Given the description of an element on the screen output the (x, y) to click on. 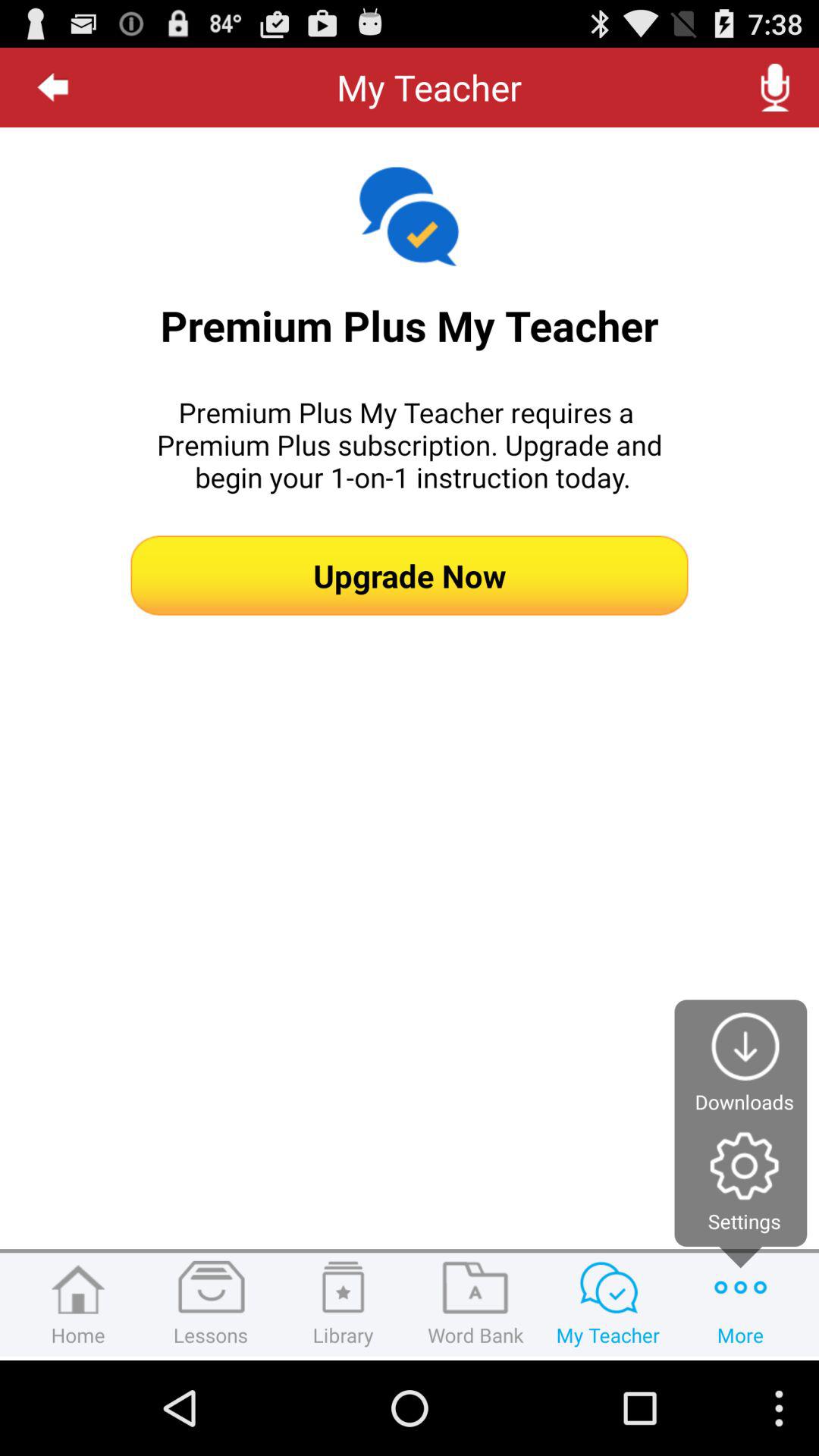
open the icon next to my teacher icon (53, 87)
